Given the description of an element on the screen output the (x, y) to click on. 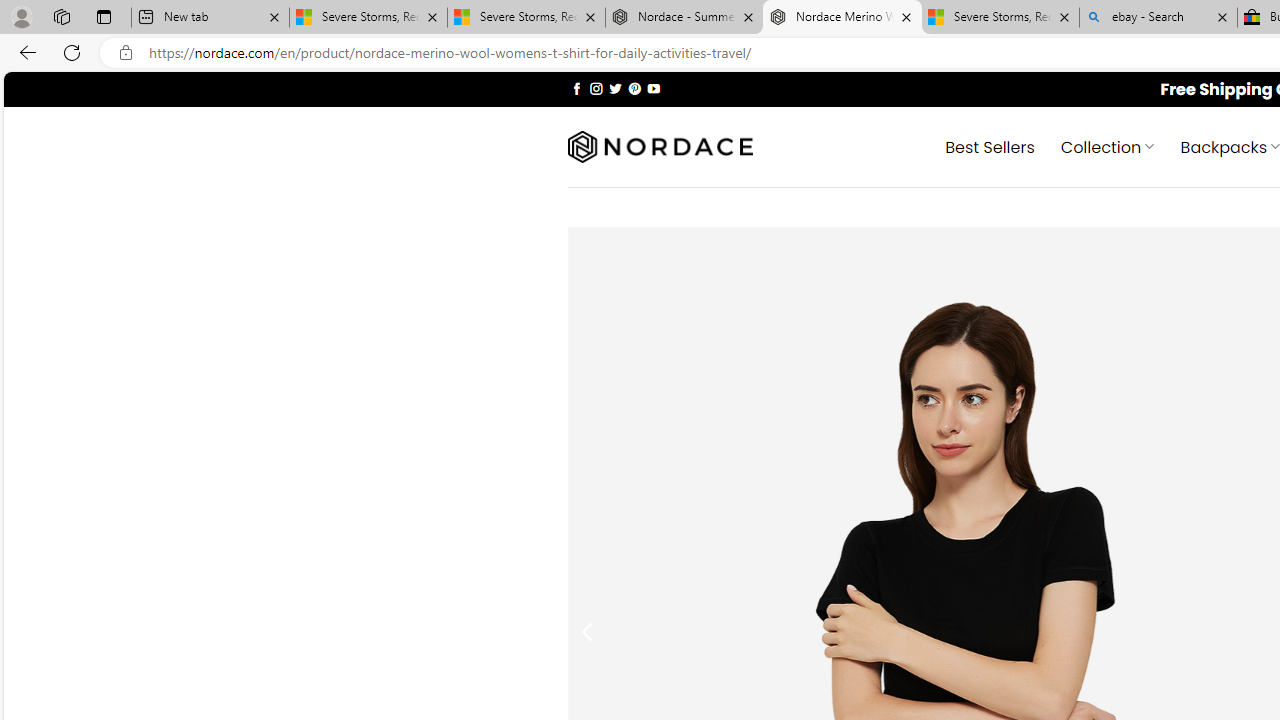
 Best Sellers (989, 146)
  Best Sellers (989, 146)
